Given the description of an element on the screen output the (x, y) to click on. 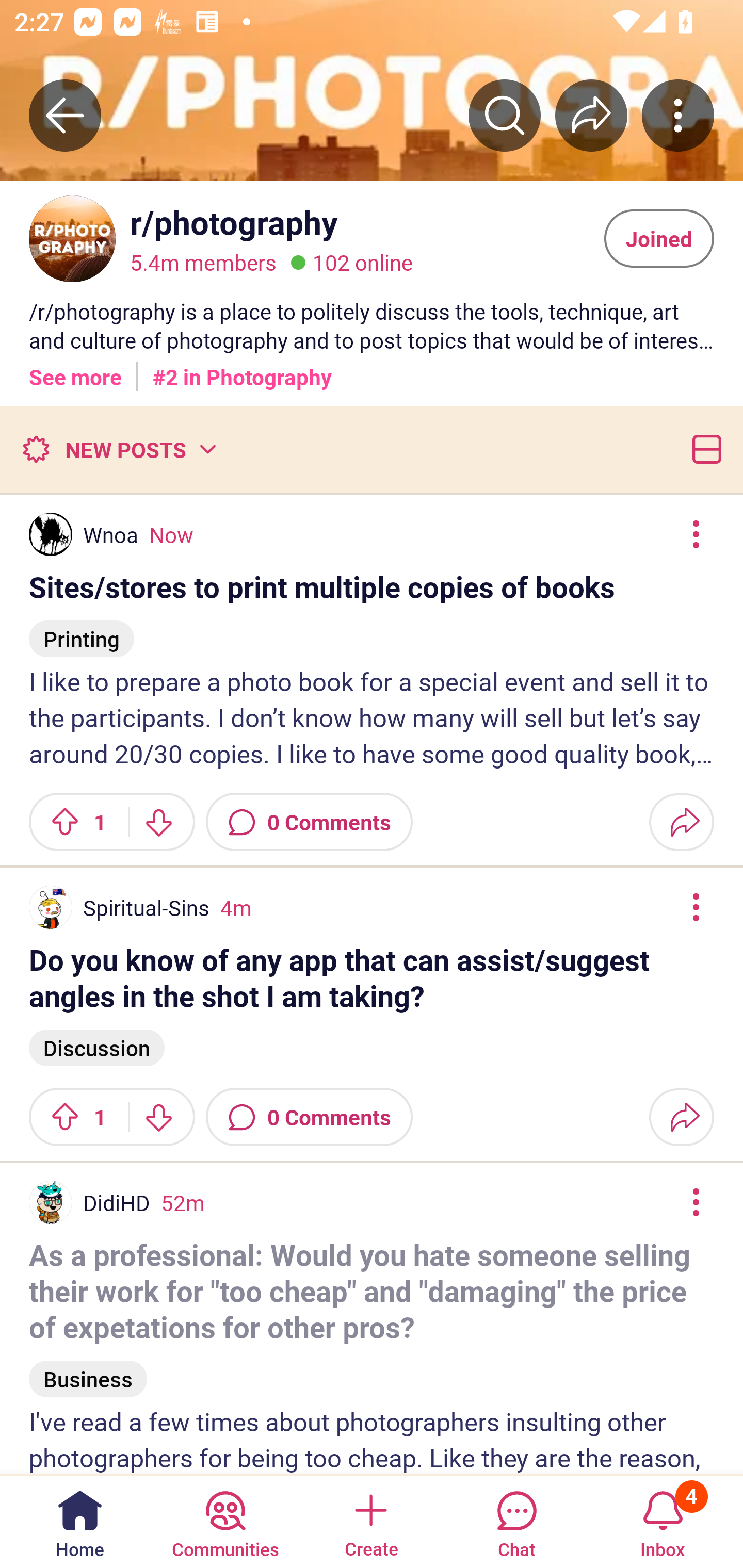
Back (64, 115)
Search r/﻿photography (504, 115)
Share r/﻿photography (591, 115)
More community actions (677, 115)
New posts NEW POSTS (118, 449)
Card (703, 449)
Printing (81, 629)
Discussion (96, 1046)
Business (87, 1369)
Home (80, 1520)
Communities (225, 1520)
Create a post Create (370, 1520)
Chat (516, 1520)
Inbox, has 4 notifications 4 Inbox (662, 1520)
